Given the description of an element on the screen output the (x, y) to click on. 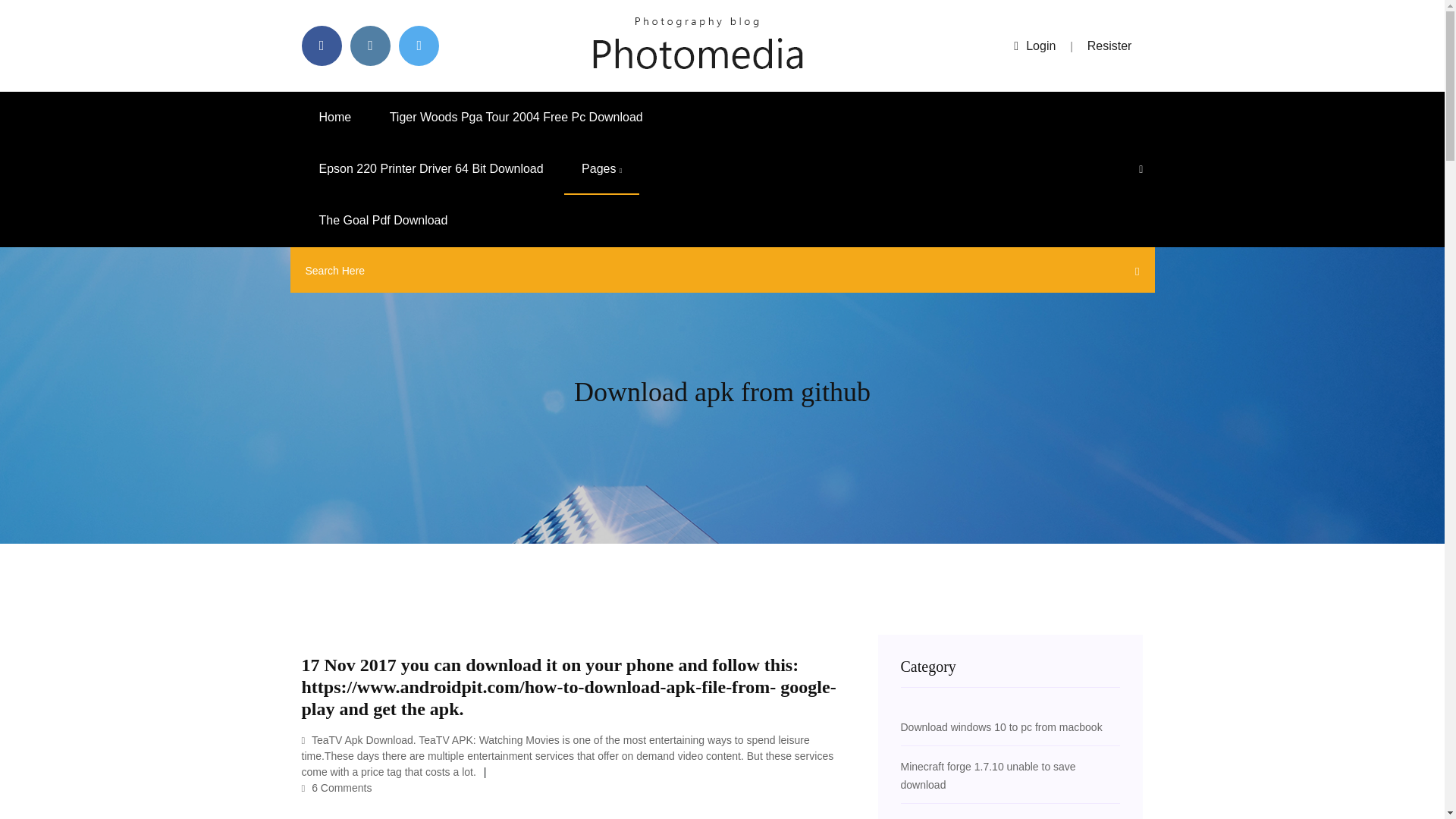
Epson 220 Printer Driver 64 Bit Download (430, 168)
Login (1034, 45)
Home (335, 117)
The Goal Pdf Download (383, 220)
Tiger Woods Pga Tour 2004 Free Pc Download (516, 117)
Pages (601, 168)
6 Comments (336, 787)
Resister (1109, 45)
